Given the description of an element on the screen output the (x, y) to click on. 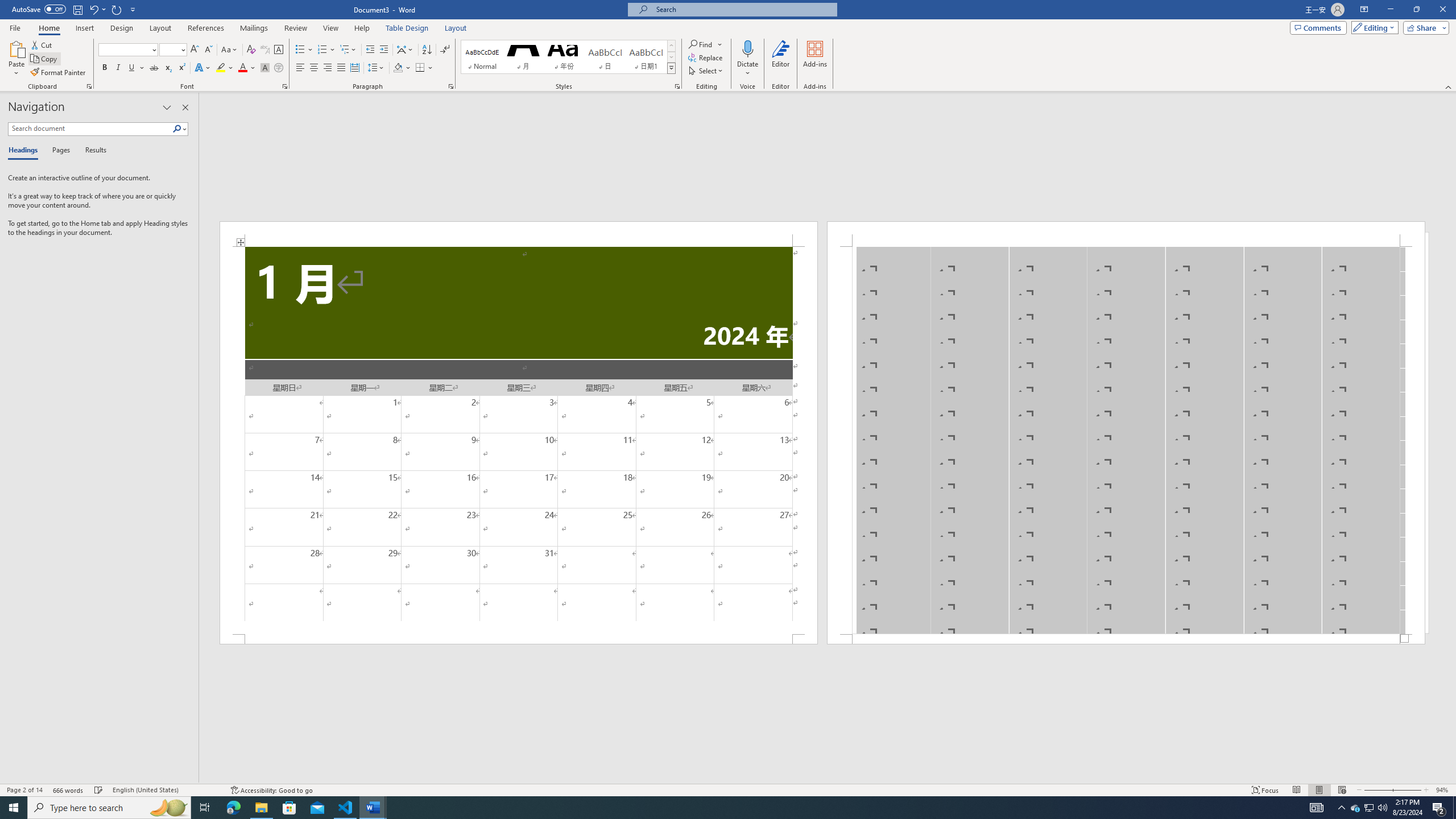
Undo Shrink Font (96, 9)
